Given the description of an element on the screen output the (x, y) to click on. 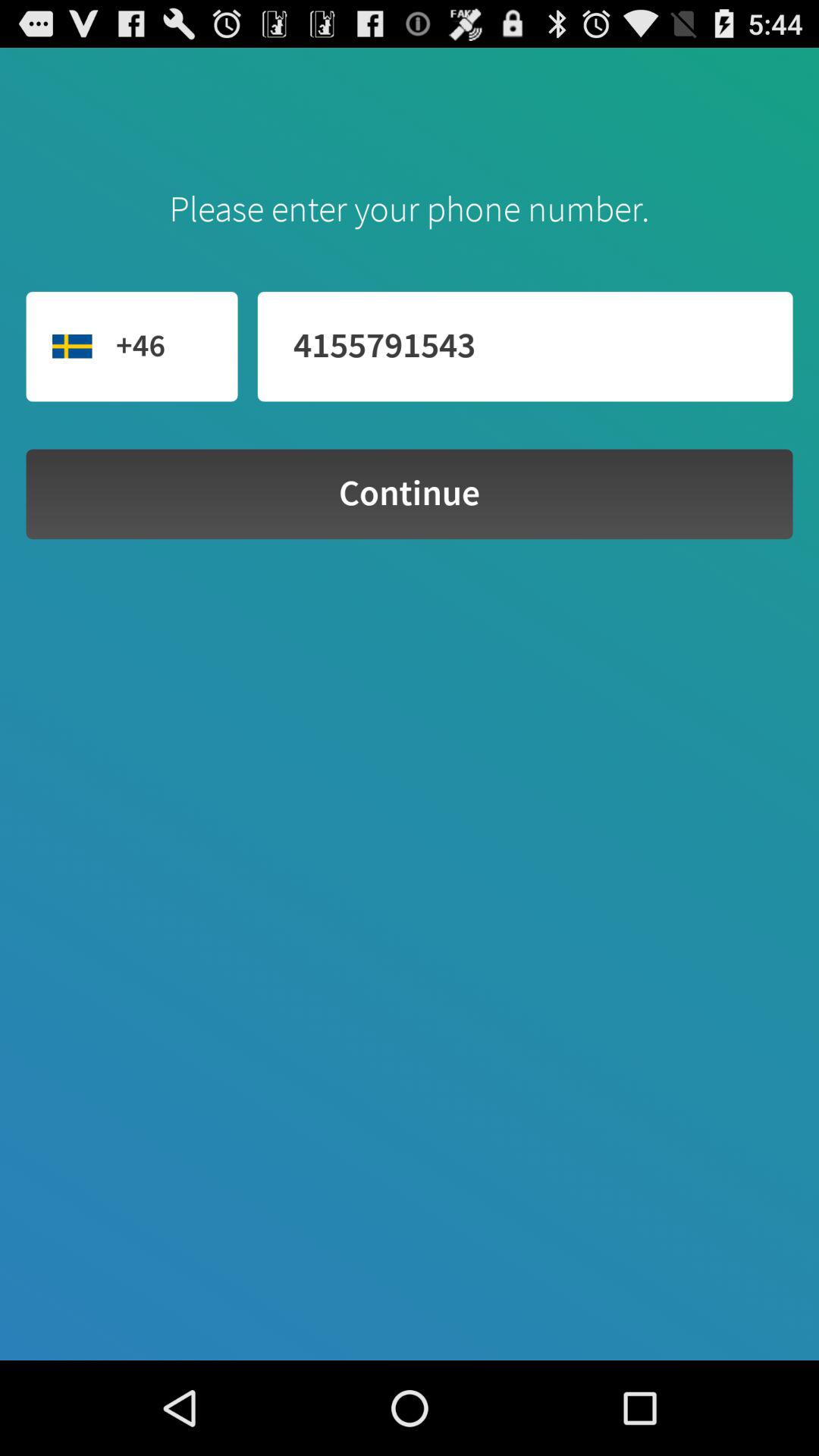
open the icon to the right of +46 item (524, 346)
